Given the description of an element on the screen output the (x, y) to click on. 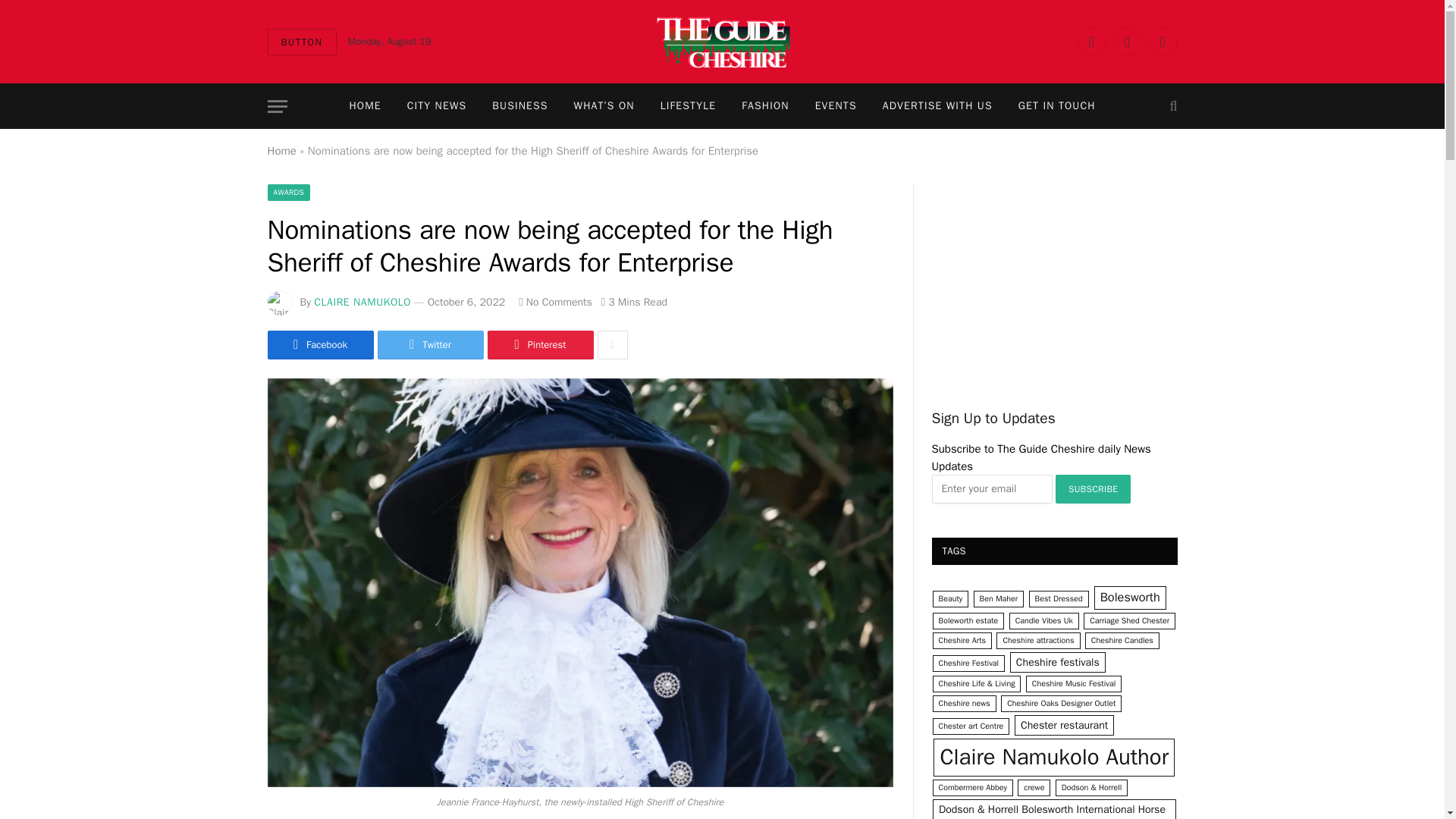
BUSINESS (519, 105)
Show More Social Sharing (611, 344)
BUTTON (301, 41)
Subscribe (1093, 489)
Share on Facebook (319, 344)
Posts by Claire Namukolo (362, 301)
CLAIRE NAMUKOLO (362, 301)
HOME (364, 105)
Pinterest (539, 344)
Twitter (430, 344)
